Given the description of an element on the screen output the (x, y) to click on. 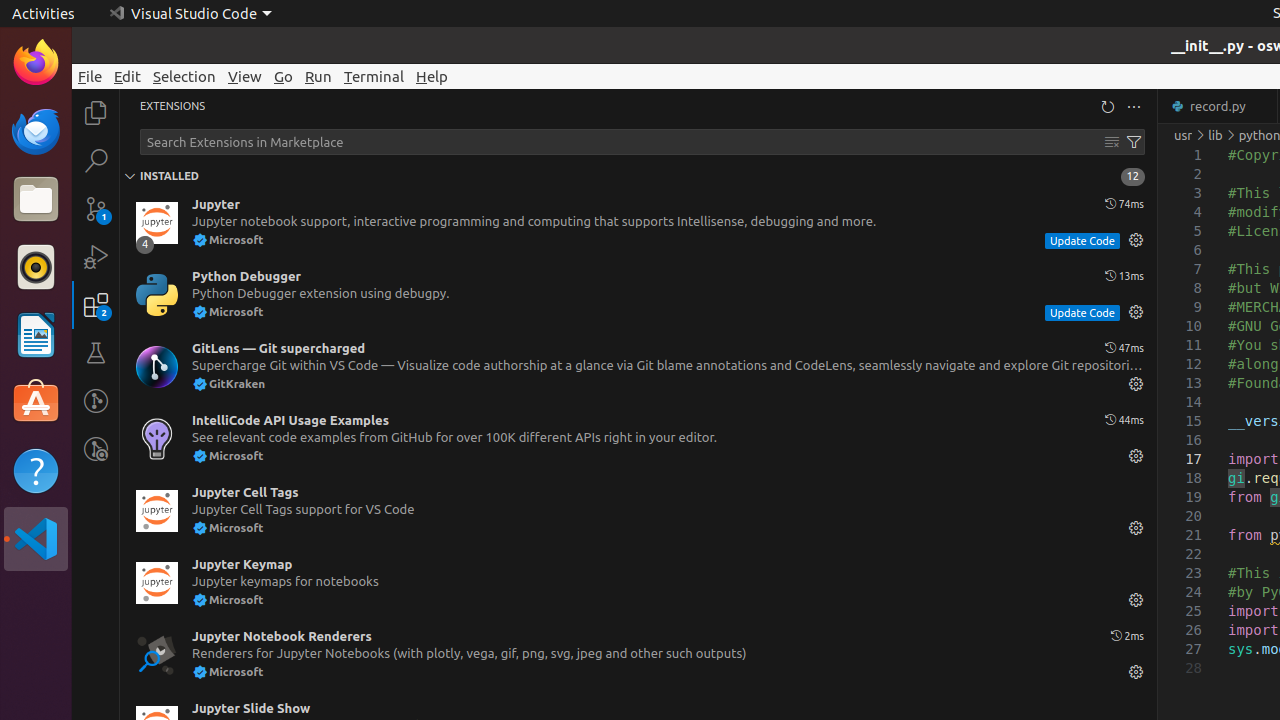
Run Element type: push-button (318, 76)
IntelliCode API Usage Examples, 0.2.8, Verified Publisher Microsoft, See relevant code examples from GitHub for over 100K different APIs right in your editor. , Rated 3.90 out of 5 stars by 20 users Element type: list-item (638, 439)
Explorer (Ctrl+Shift+E) Element type: page-tab (96, 113)
Jupyter Keymap, 1.1.2, Verified Publisher Microsoft, Jupyter keymaps for notebooks , Rated 4.00 out of 5 stars by 3 users Element type: list-item (638, 583)
